Given the description of an element on the screen output the (x, y) to click on. 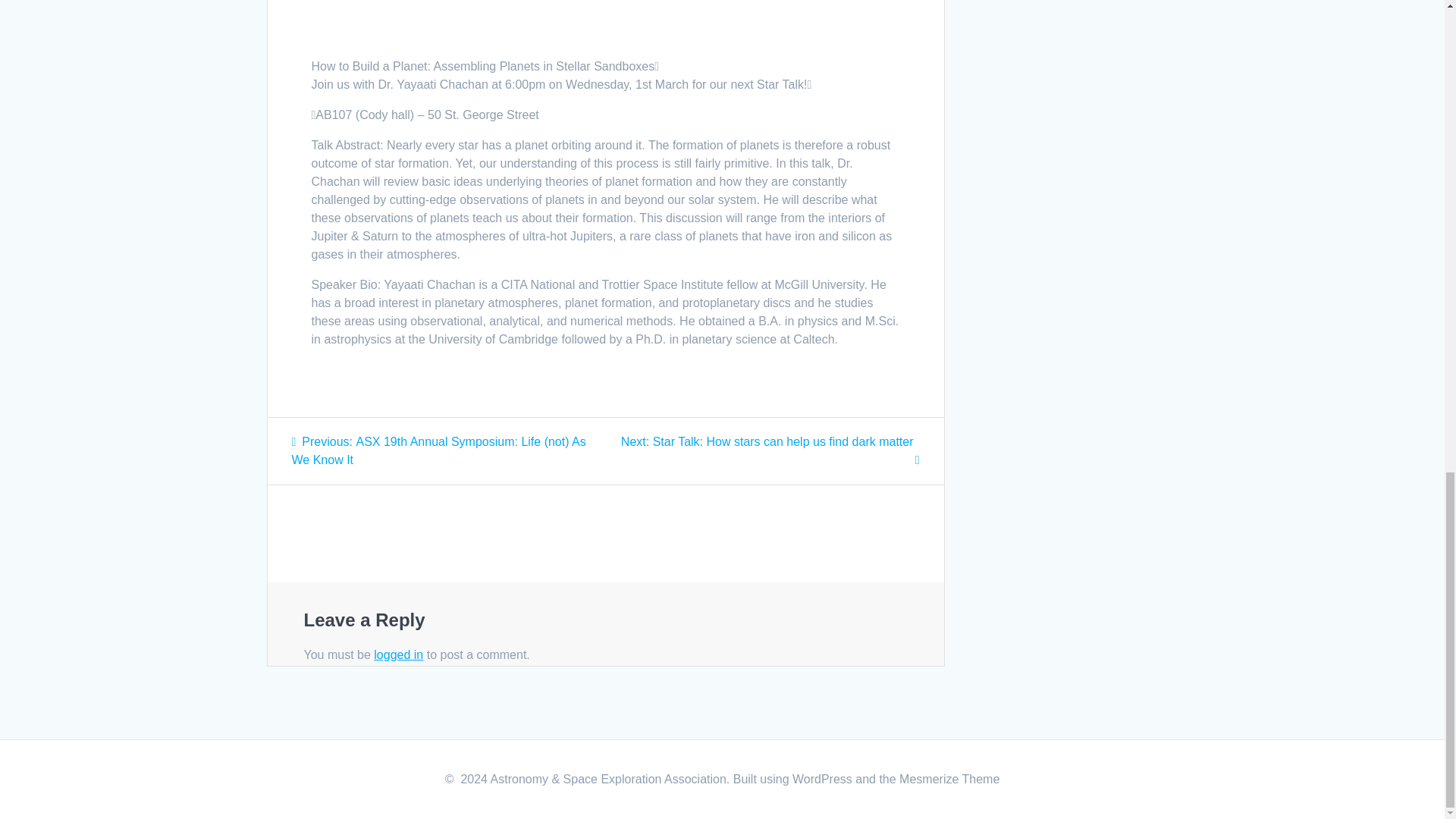
Mesmerize Theme (948, 779)
logged in (398, 654)
